Given the description of an element on the screen output the (x, y) to click on. 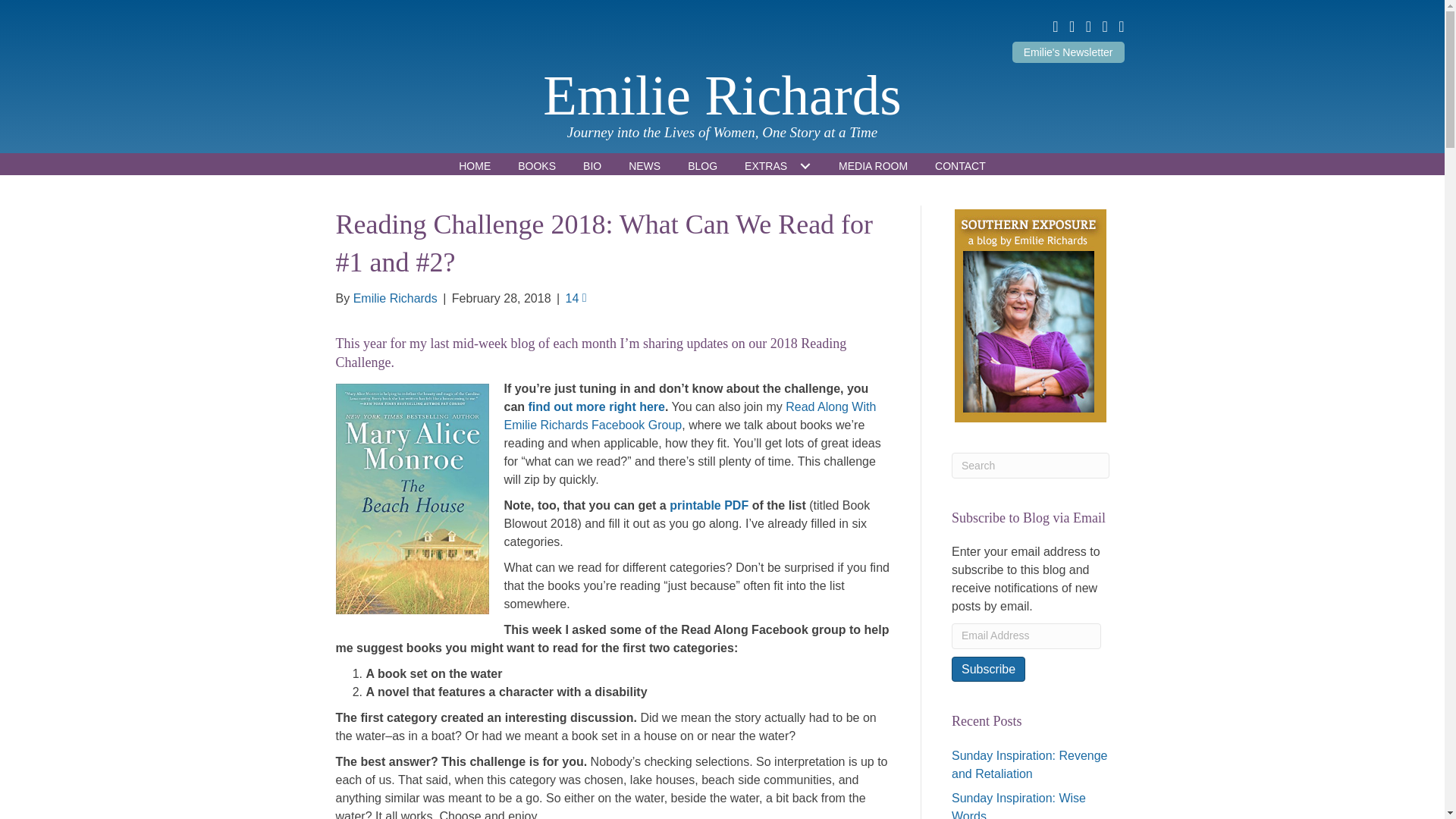
Emilie's Newsletter (1067, 52)
find out more right here (596, 406)
CONTACT (959, 166)
EXTRAS (777, 166)
14 (576, 297)
BIO (591, 166)
NEWS (644, 166)
Emilie Richards (395, 297)
MEDIA ROOM (873, 166)
Type and press Enter to search. (1030, 465)
BOOKS (536, 166)
Emilie Richards (722, 95)
printable PDF (708, 504)
BLOG (702, 166)
Read Along With Emilie Richards Facebook Group (689, 415)
